Given the description of an element on the screen output the (x, y) to click on. 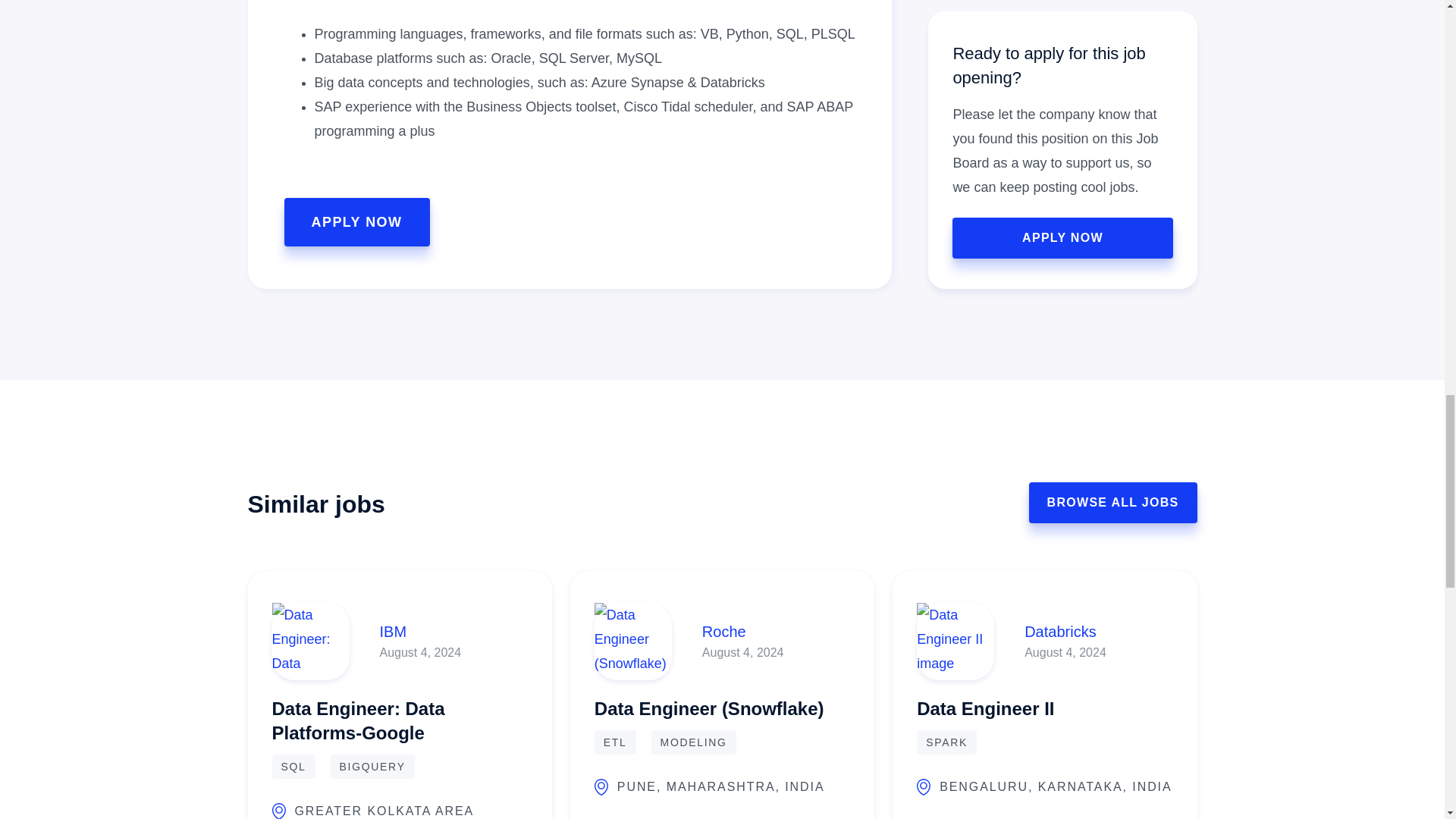
SPARK (946, 742)
IBM (419, 631)
Data Engineer: Data Platforms-Google (398, 717)
BROWSE ALL JOBS (1112, 502)
Data Engineer II (985, 705)
MODELING (693, 742)
BIGQUERY (372, 766)
APPLY NOW (356, 222)
Databricks (1065, 631)
SQL (292, 766)
Roche (742, 631)
ETL (615, 742)
